Given the description of an element on the screen output the (x, y) to click on. 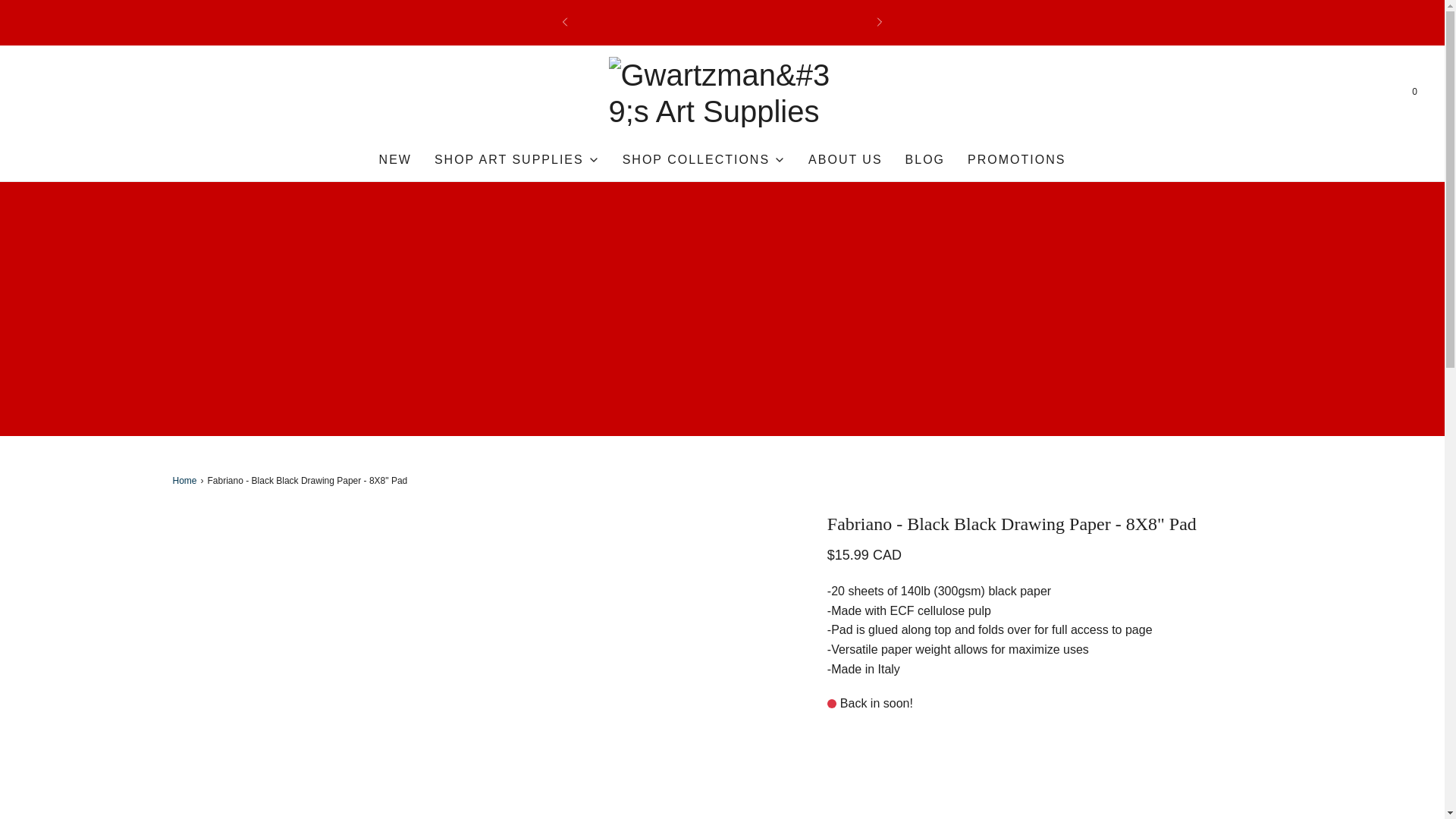
Back to the frontpage (186, 481)
NEW (395, 159)
Cart (1413, 91)
0 (1413, 91)
SHOP ART SUPPLIES (516, 159)
